Given the description of an element on the screen output the (x, y) to click on. 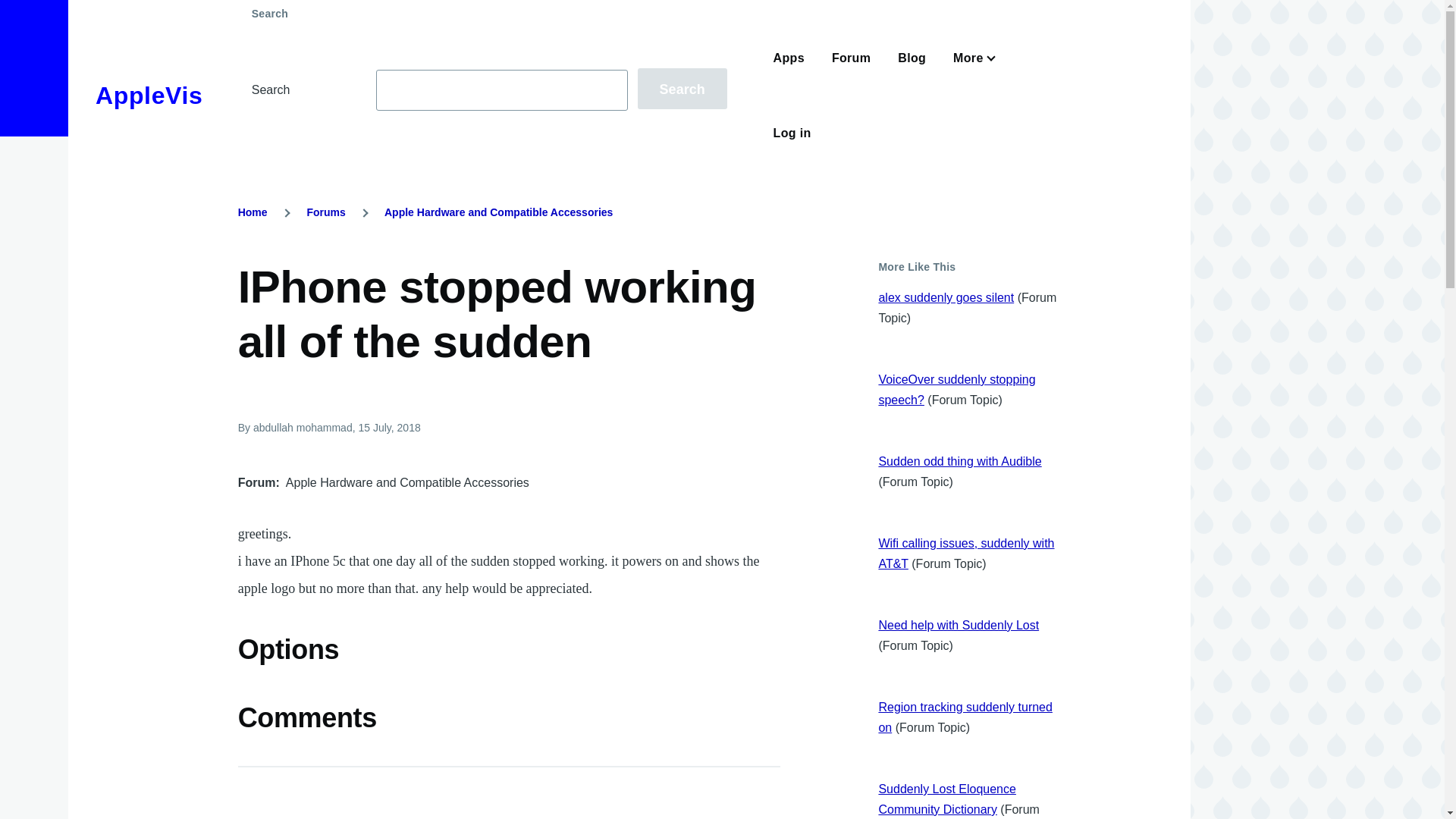
Suddenly Lost Eloquence Community Dictionary (945, 798)
VoiceOver suddenly stopping speech? (956, 389)
Need help with Suddenly Lost (958, 625)
Search (681, 87)
Apple Hardware and Compatible Accessories (498, 212)
Home (252, 212)
Region tracking suddenly turned on (964, 717)
Sudden odd thing with Audible (959, 461)
Skip to main content (595, 6)
AppleVis (149, 94)
